Given the description of an element on the screen output the (x, y) to click on. 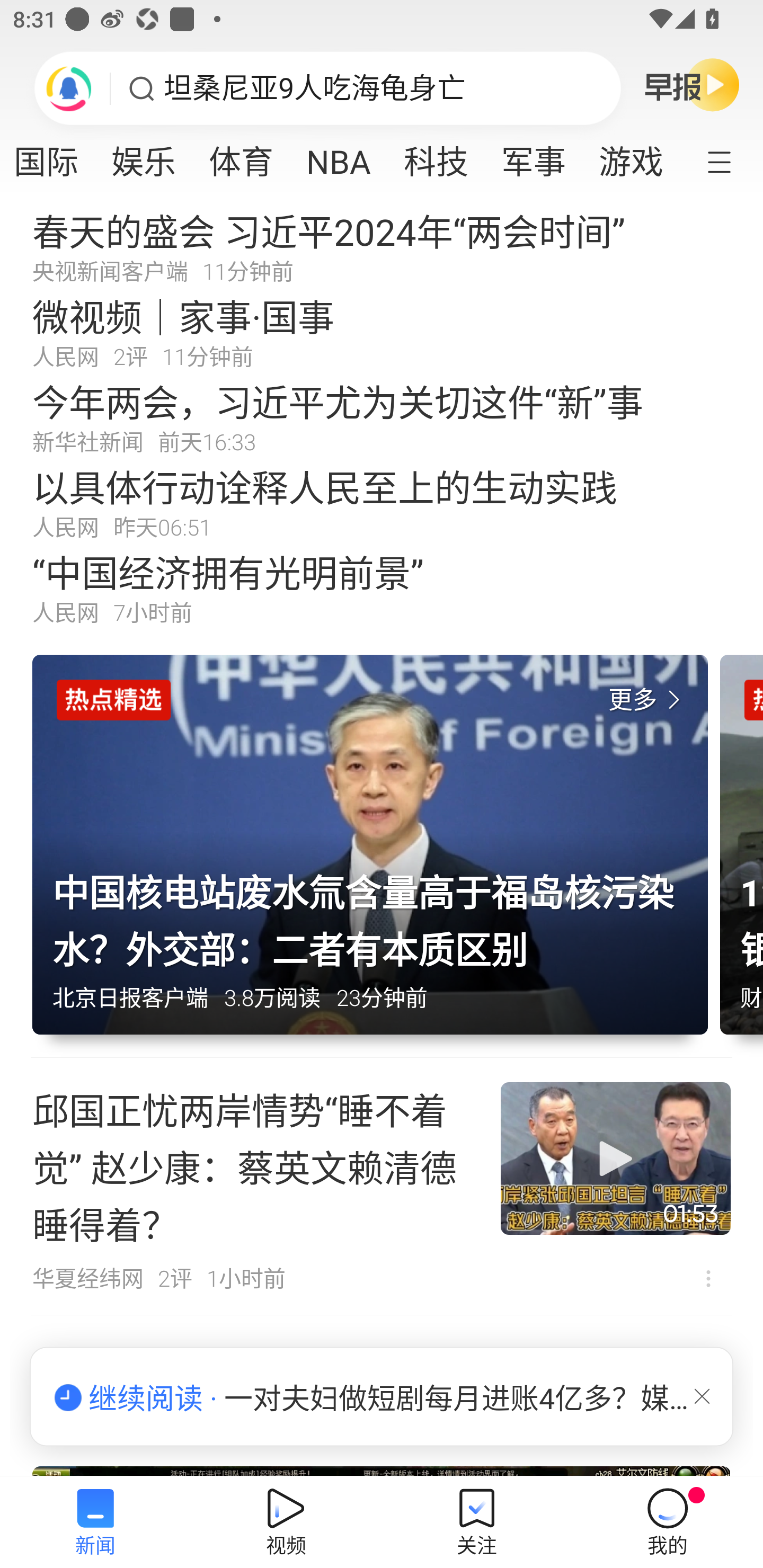
早晚报 (691, 84)
刷新 (68, 88)
坦桑尼亚9人吃海龟身亡 (314, 88)
国际 (55, 155)
娱乐 (143, 155)
体育 (240, 155)
NBA (338, 155)
科技 (435, 155)
军事 (533, 155)
游戏 (630, 155)
 定制频道 (731, 160)
春天的盛会 习近平2024年“两会时间” 央视新闻客户端 11分钟前 (381, 245)
微视频｜家事·国事 人民网 2评 11分钟前 (381, 331)
今年两会，习近平尤为关切这件“新”事 新华社新闻 前天16:33 (381, 416)
以具体行动诠释人民至上的生动实践 人民网 昨天06:51 (381, 502)
“中国经济拥有光明前景” 人民网 7小时前 (381, 587)
更多  (648, 699)
 不感兴趣 (707, 1278)
继续阅读 ·  一对夫妇做短剧每月进账4亿多？媒体：还是少讲一些“暴富神话”吧  (381, 1397)
 (702, 1396)
